Given the description of an element on the screen output the (x, y) to click on. 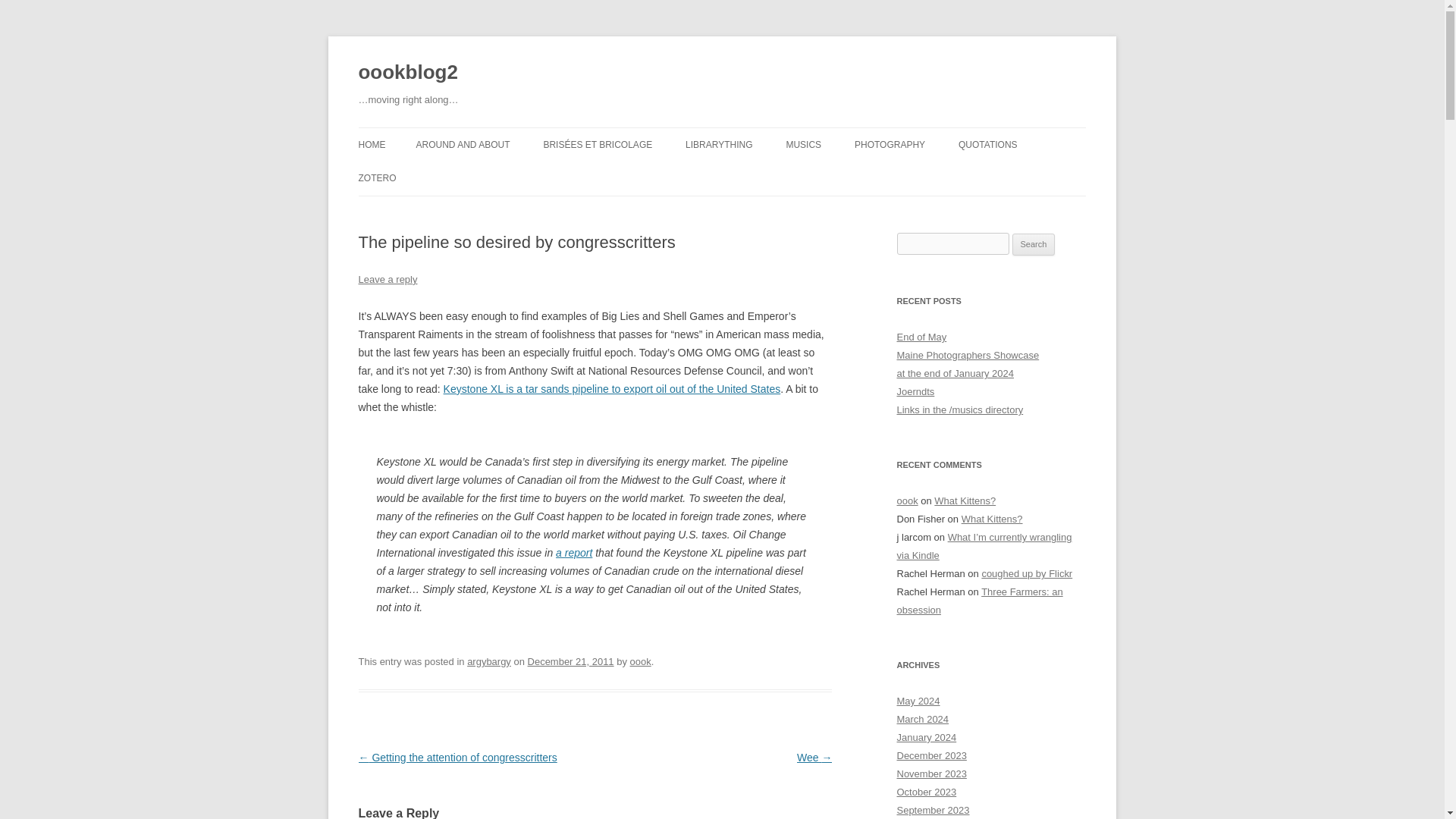
December 2023 (931, 755)
argybargy (489, 661)
Three Farmers: an obsession (979, 600)
oookblog2 (407, 72)
coughed up by Flickr (1026, 573)
ZOTERO (377, 177)
Search (1033, 244)
Search (1033, 244)
a report (574, 552)
Joerndts (915, 391)
